Given the description of an element on the screen output the (x, y) to click on. 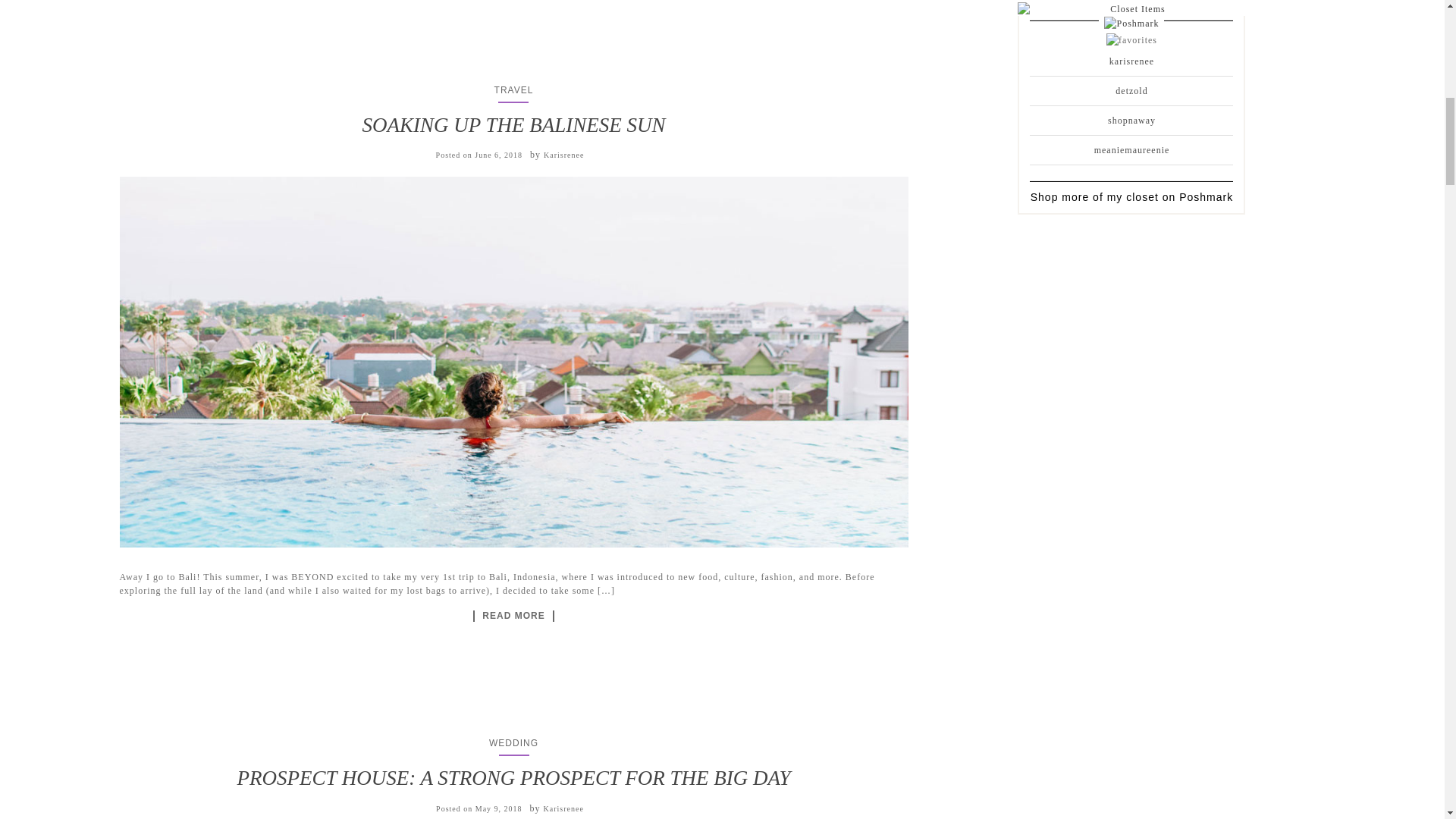
June 6, 2018 (498, 154)
READ MORE (513, 615)
May 9, 2018 (499, 808)
Soaking Up the Balinese Sun (513, 615)
TRAVEL (514, 90)
PROSPECT HOUSE: A STRONG PROSPECT FOR THE BIG DAY (512, 777)
SOAKING UP THE BALINESE SUN (513, 124)
Karisrenee (563, 808)
WEDDING (513, 742)
